Given the description of an element on the screen output the (x, y) to click on. 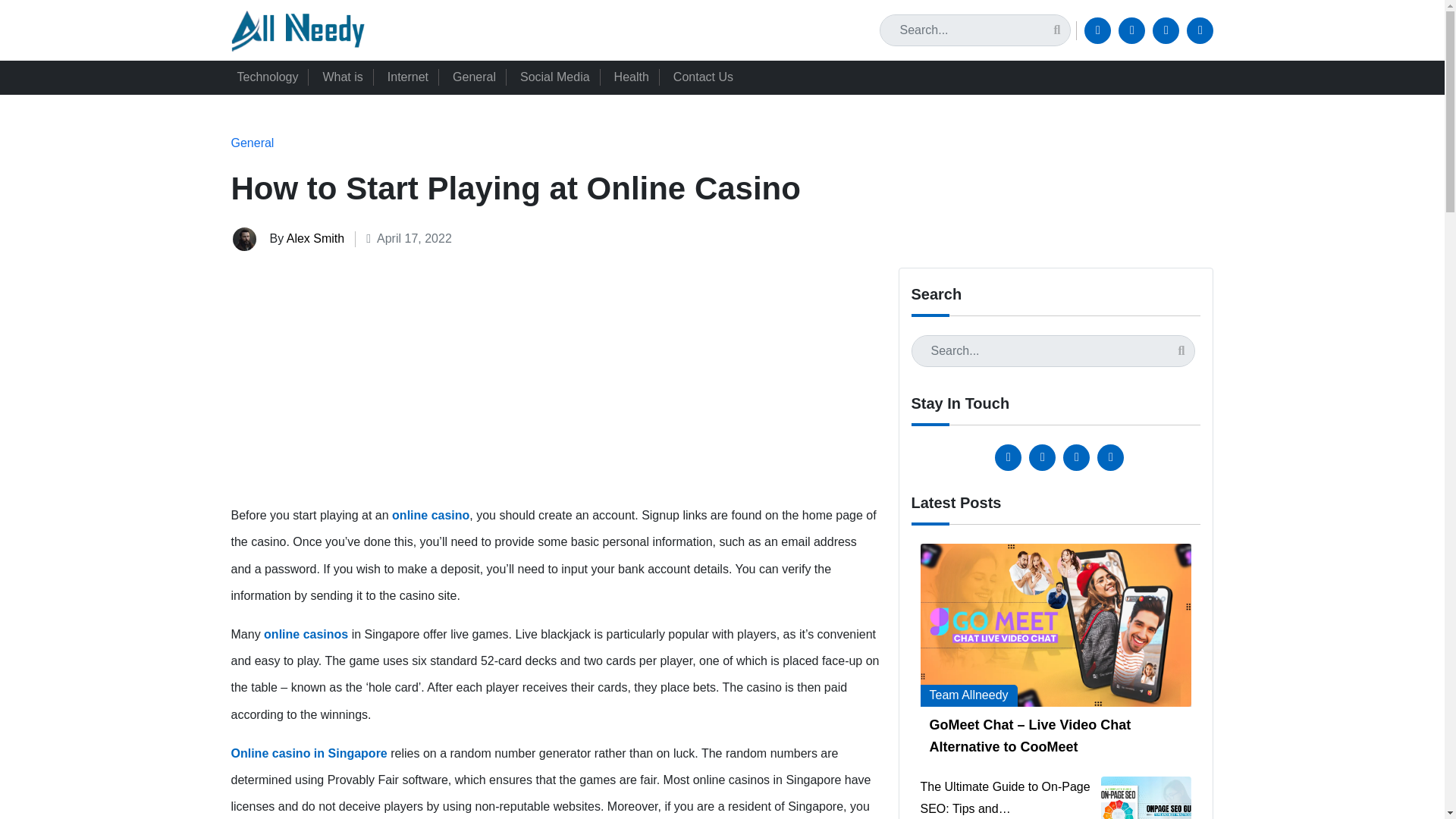
What is (347, 77)
General (251, 142)
Team Allneedy (968, 695)
Online casino in Singapore (308, 753)
Search for: (974, 29)
Contact Us (708, 77)
Social Media (560, 77)
online casinos (305, 634)
General (479, 77)
Search for: (1053, 350)
Technology (272, 77)
Internet (413, 77)
Alex Smith (314, 237)
Health (637, 77)
